Given the description of an element on the screen output the (x, y) to click on. 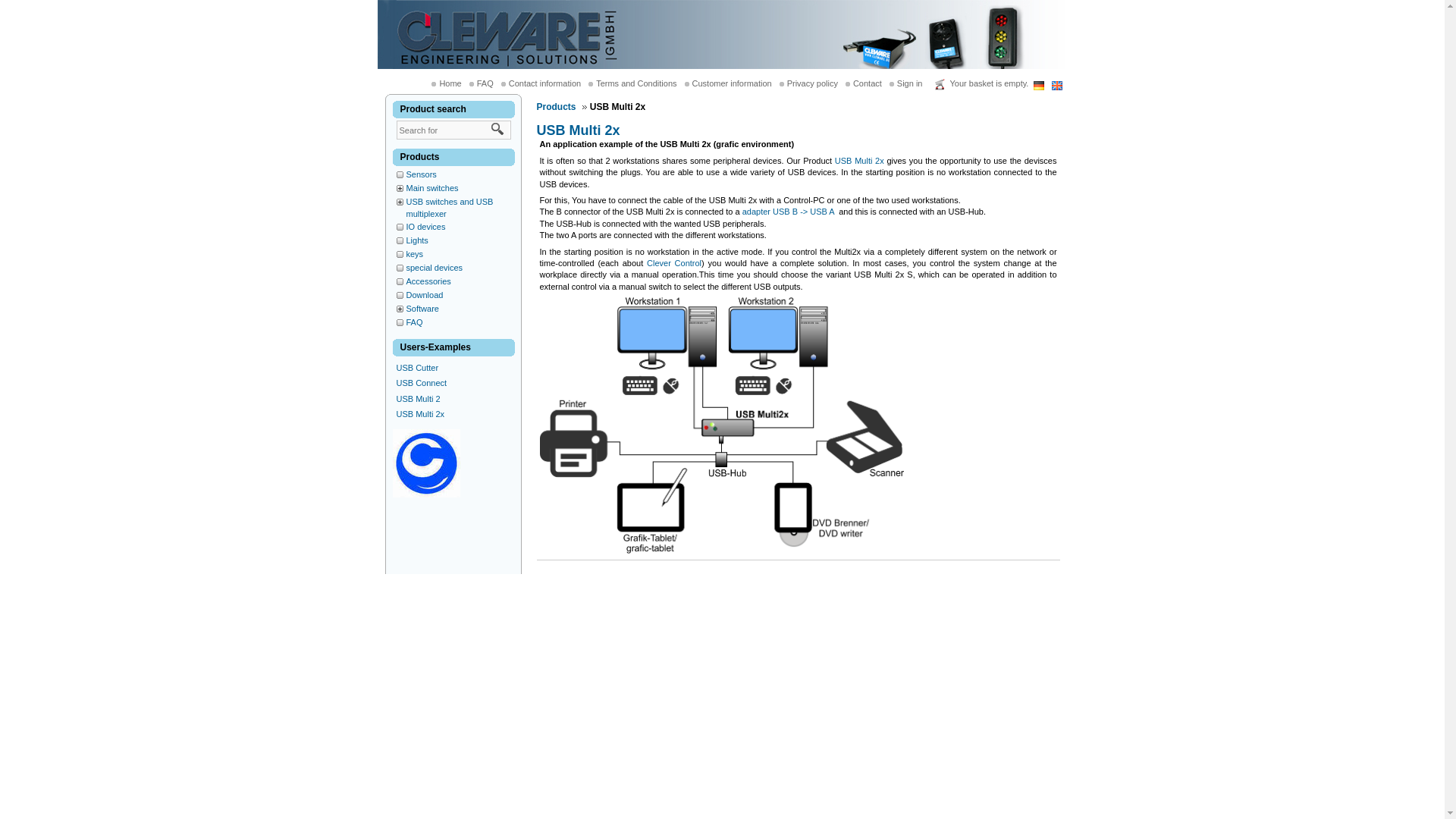
USB switches and USB multiplexer (449, 207)
Lights (417, 240)
FAQ (488, 82)
Privacy policy (816, 82)
Accessories (429, 281)
USB Multi 2x (420, 413)
Download (425, 294)
Sensors (422, 173)
Terms and Conditions (639, 82)
Customer information (735, 82)
